Given the description of an element on the screen output the (x, y) to click on. 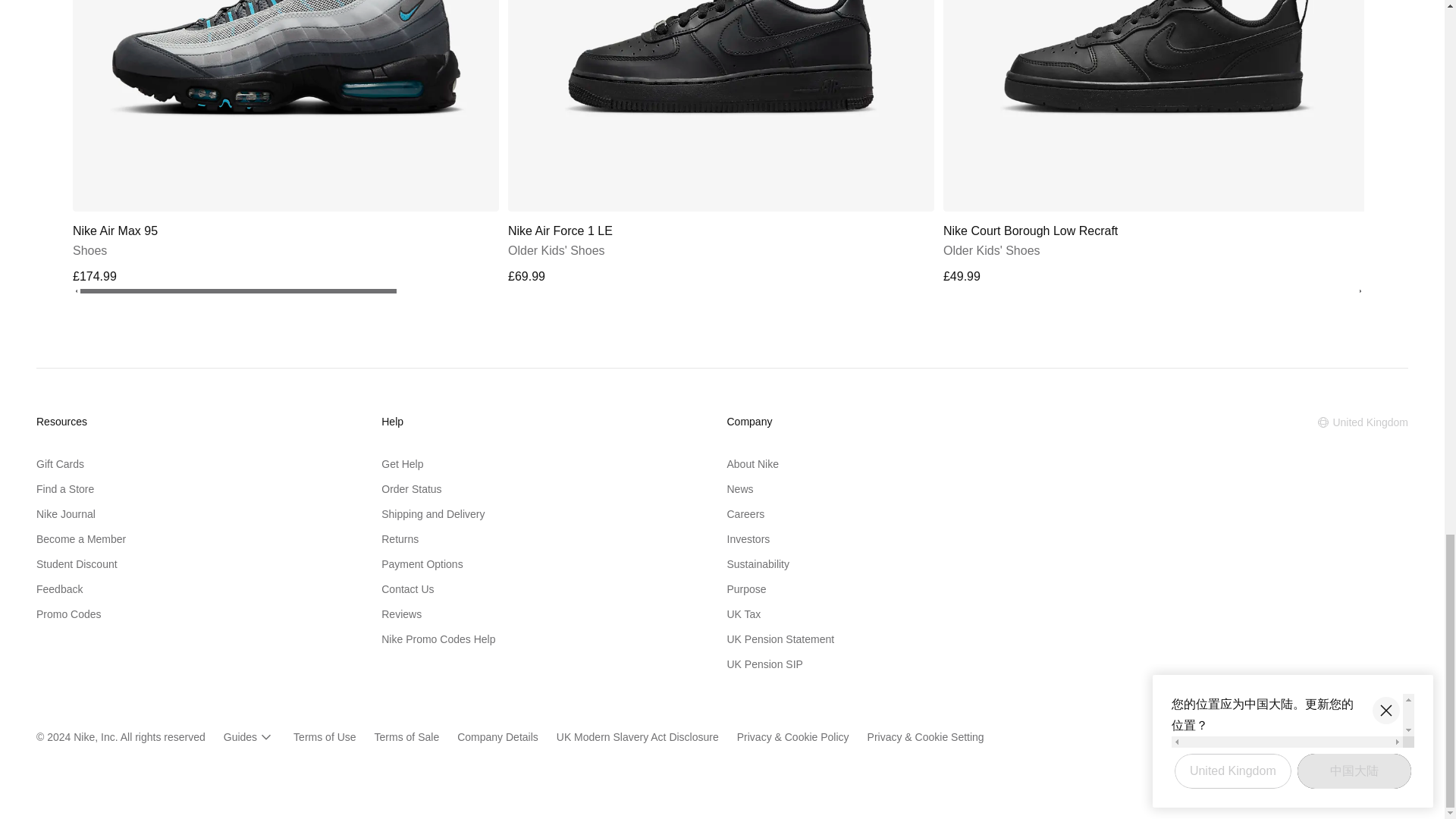
Nike Air Force 1 LE (721, 143)
Nike Air Max 95 (285, 143)
Nike Court Borough Low Recraft (1156, 143)
Selected Location: United Kingdom (1362, 422)
